Given the description of an element on the screen output the (x, y) to click on. 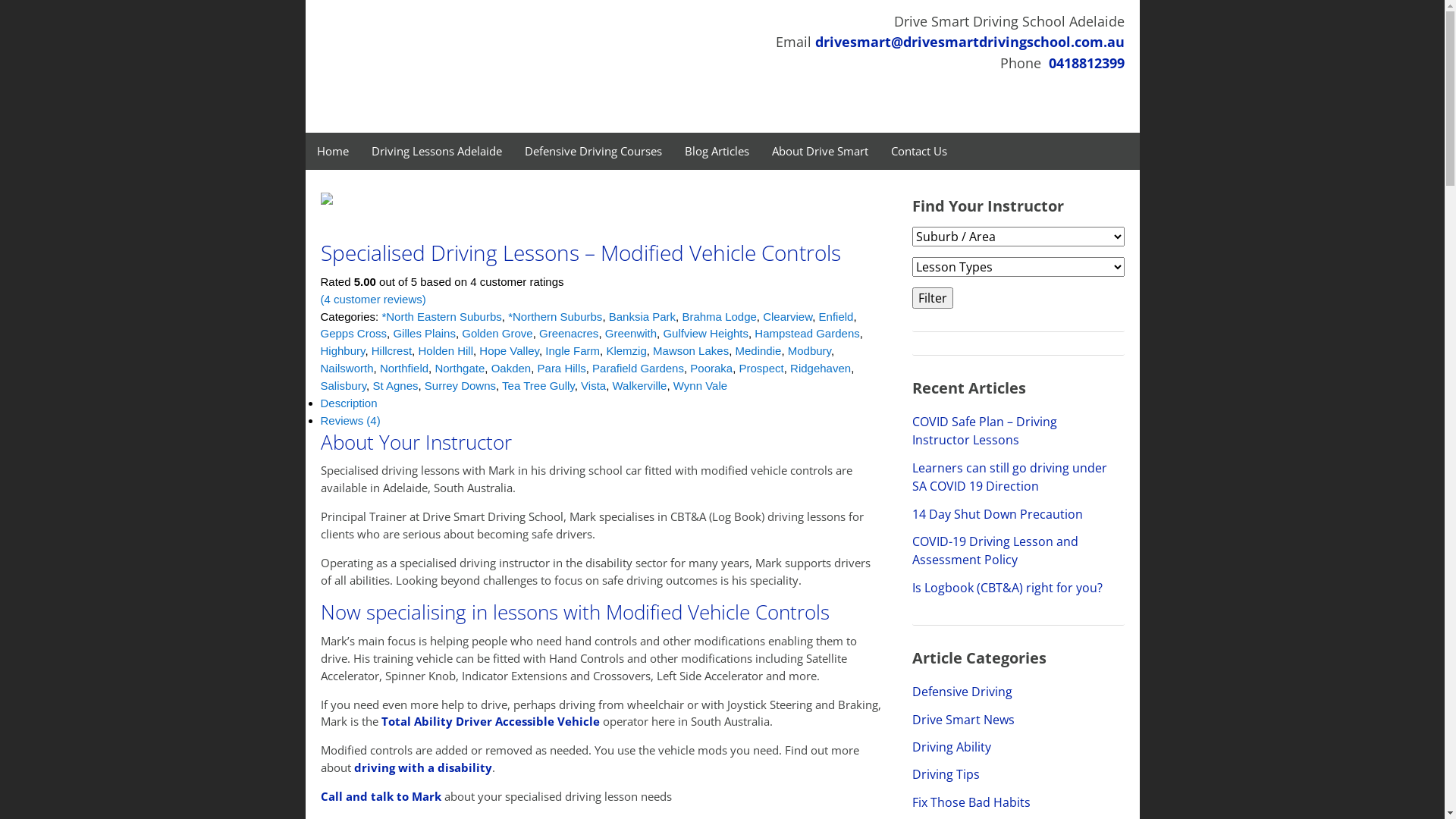
Modbury Element type: text (809, 350)
Oakden Element type: text (511, 367)
Gepps Cross Element type: text (353, 332)
Home Element type: text (331, 150)
Hampstead Gardens Element type: text (806, 332)
About Drive Smart Element type: text (818, 150)
Learners can still go driving under SA COVID 19 Direction Element type: text (1008, 476)
Nailsworth Element type: text (346, 367)
Klemzig Element type: text (625, 350)
Description Element type: text (348, 402)
Hillcrest Element type: text (391, 350)
Pooraka Element type: text (711, 367)
Hope Valley Element type: text (509, 350)
14 Day Shut Down Precaution Element type: text (996, 513)
Salisbury Element type: text (343, 385)
Total Ability Driver Accessible Vehicle Element type: text (489, 720)
Northgate Element type: text (459, 367)
driving with a disability Element type: text (422, 767)
Call and talk to Mark Element type: text (380, 795)
Gulfview Heights Element type: text (705, 332)
Parafield Gardens Element type: text (638, 367)
Fix Those Bad Habits Element type: text (970, 801)
DRIVE SMART DRIVING SCHOOL Element type: text (468, 66)
Reviews (4) Element type: text (349, 420)
Brahma Lodge Element type: text (718, 315)
Ridgehaven Element type: text (820, 367)
Contact Us Element type: text (918, 150)
Tea Tree Gully Element type: text (538, 385)
*Northern Suburbs Element type: text (555, 315)
drivesmart@drivesmartdrivingschool.com.au Element type: text (968, 41)
Surrey Downs Element type: text (459, 385)
Mawson Lakes Element type: text (690, 350)
(4 customer reviews) Element type: text (372, 298)
Defensive Driving Element type: text (961, 691)
Greenwith Element type: text (630, 332)
Prospect Element type: text (761, 367)
Enfield Element type: text (836, 315)
Medindie Element type: text (758, 350)
0418812399 Element type: text (1085, 62)
Walkerville Element type: text (638, 385)
Driving Tips Element type: text (945, 773)
COVID-19 Driving Lesson and Assessment Policy Element type: text (994, 550)
Para Hills Element type: text (561, 367)
St Agnes Element type: text (394, 385)
Banksia Park Element type: text (641, 315)
Greenacres Element type: text (568, 332)
Gilles Plains Element type: text (423, 332)
Defensive Driving Courses Element type: text (592, 150)
Northfield Element type: text (403, 367)
Blog Articles Element type: text (716, 150)
Golden Grove Element type: text (496, 332)
Driving Ability Element type: text (950, 746)
Wynn Vale Element type: text (700, 385)
Ingle Farm Element type: text (572, 350)
Driving Lessons Adelaide Element type: text (435, 150)
Highbury Element type: text (342, 350)
Is Logbook (CBT&A) right for you? Element type: text (1006, 587)
Drive Smart News Element type: text (962, 719)
Holden Hill Element type: text (445, 350)
Vista Element type: text (592, 385)
Clearview Element type: text (787, 315)
Filter Element type: text (931, 297)
*North Eastern Suburbs Element type: text (441, 315)
